Given the description of an element on the screen output the (x, y) to click on. 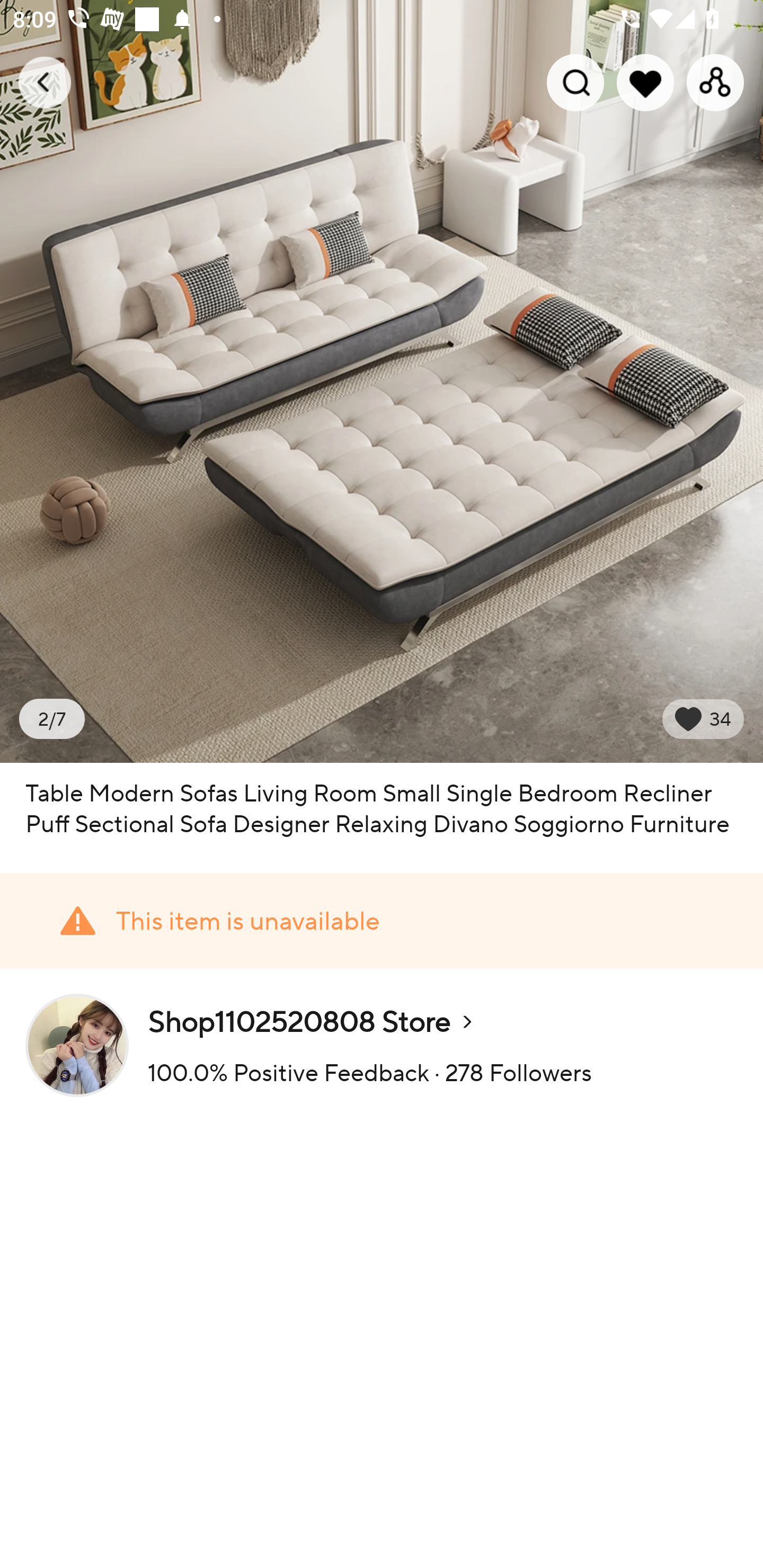
Navigate up (44, 82)
wish state 34 (702, 718)
